Given the description of an element on the screen output the (x, y) to click on. 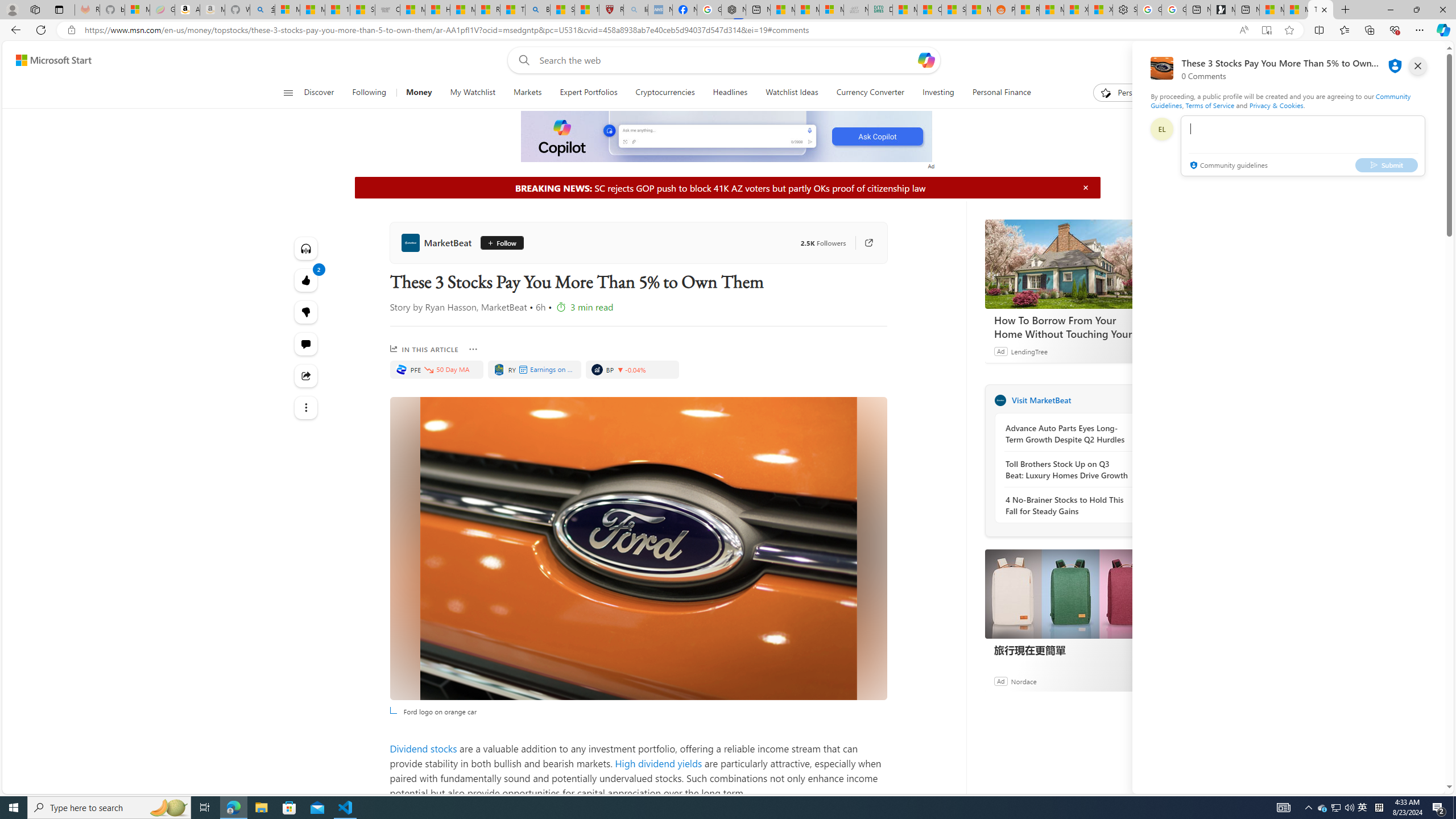
Enter your search term (726, 59)
Currency Converter (869, 92)
Ford logo on orange car (638, 548)
Headlines (729, 92)
MarketBeat (438, 242)
Robert H. Shmerling, MD - Harvard Health (611, 9)
